Given the description of an element on the screen output the (x, y) to click on. 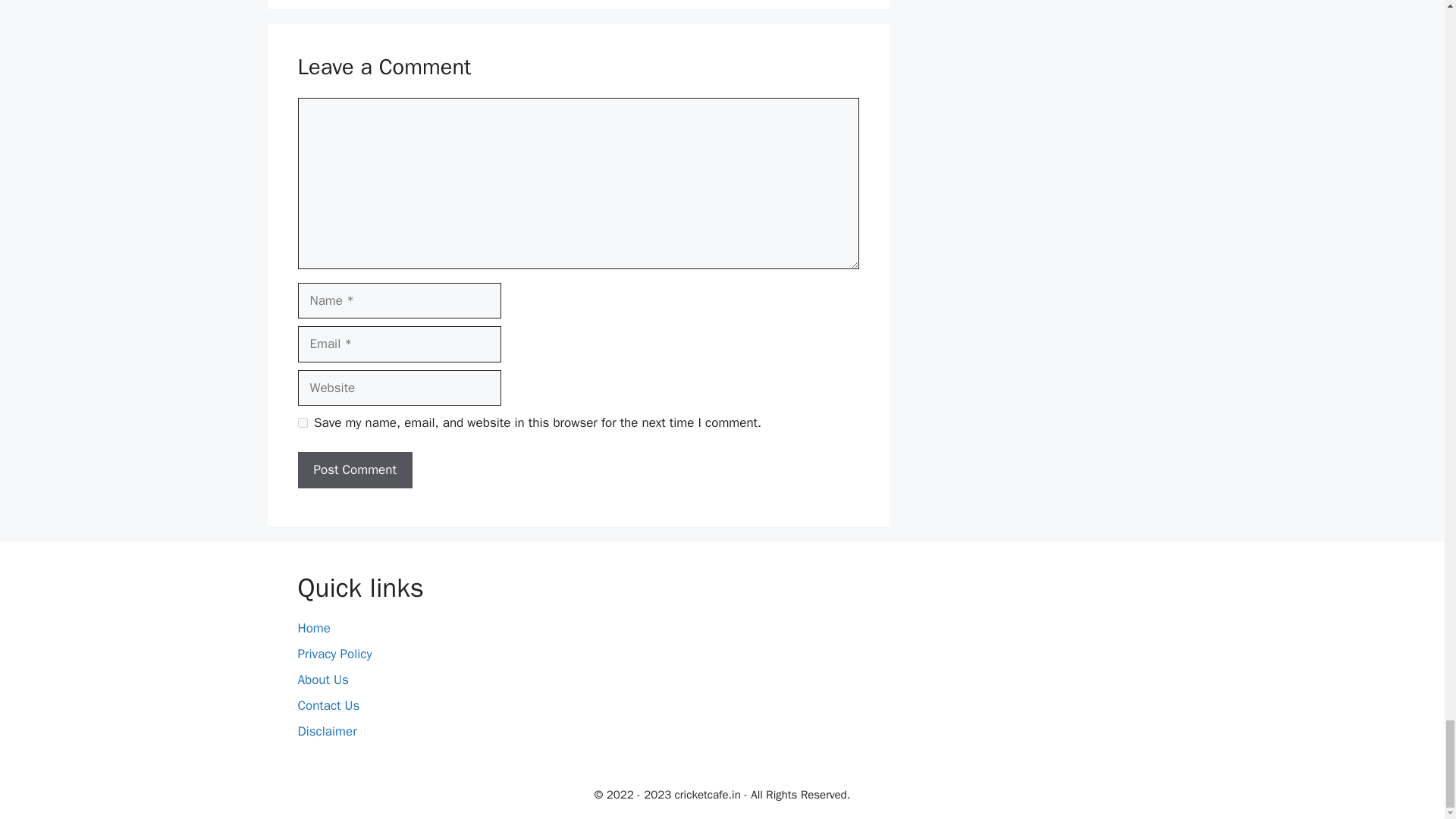
yes (302, 422)
Post Comment (354, 470)
Disclaimer (326, 731)
About Us (322, 679)
Home (313, 627)
Privacy Policy (334, 653)
Post Comment (354, 470)
Contact Us (328, 705)
